Given the description of an element on the screen output the (x, y) to click on. 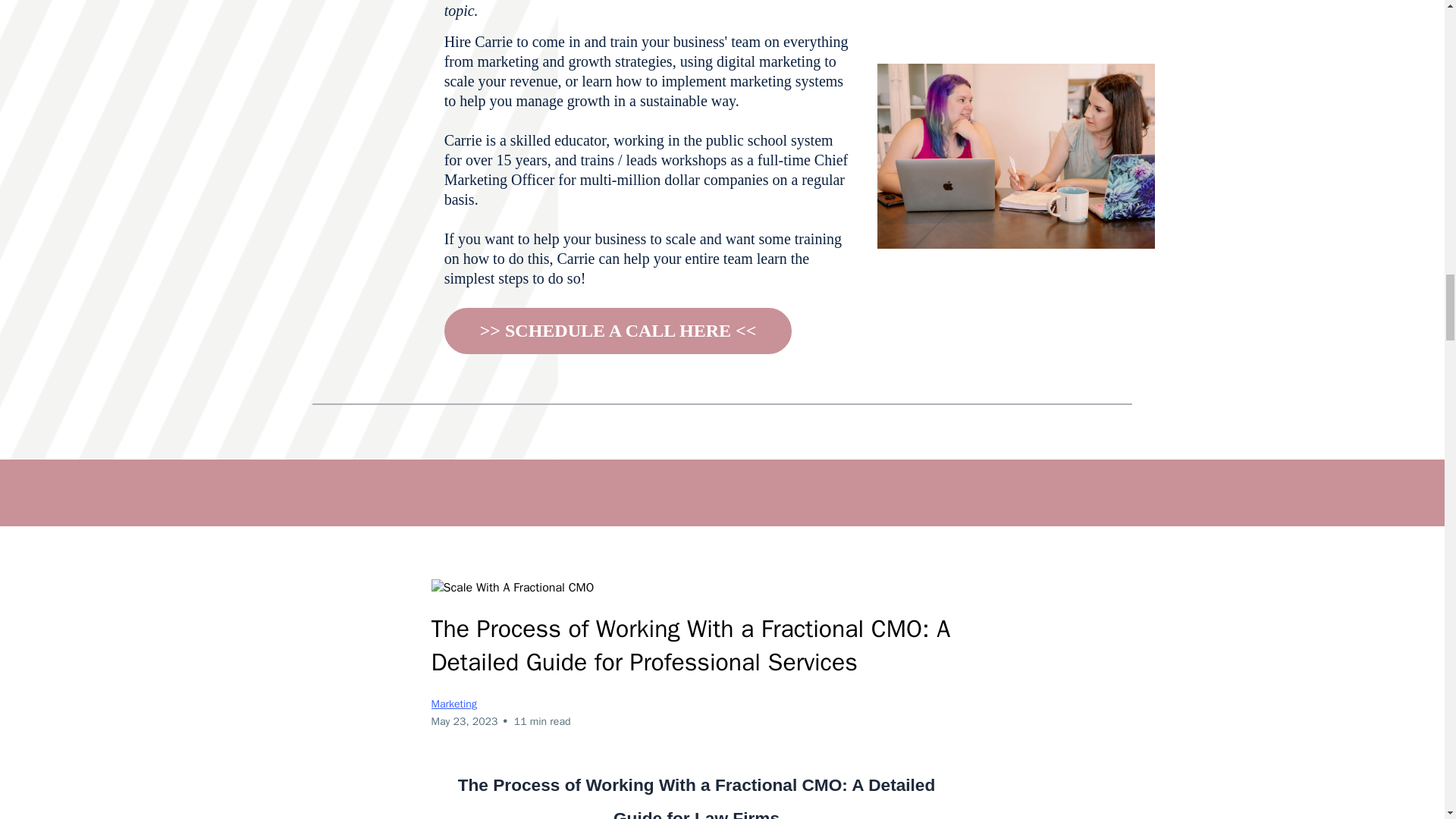
Marketing (453, 703)
